Given the description of an element on the screen output the (x, y) to click on. 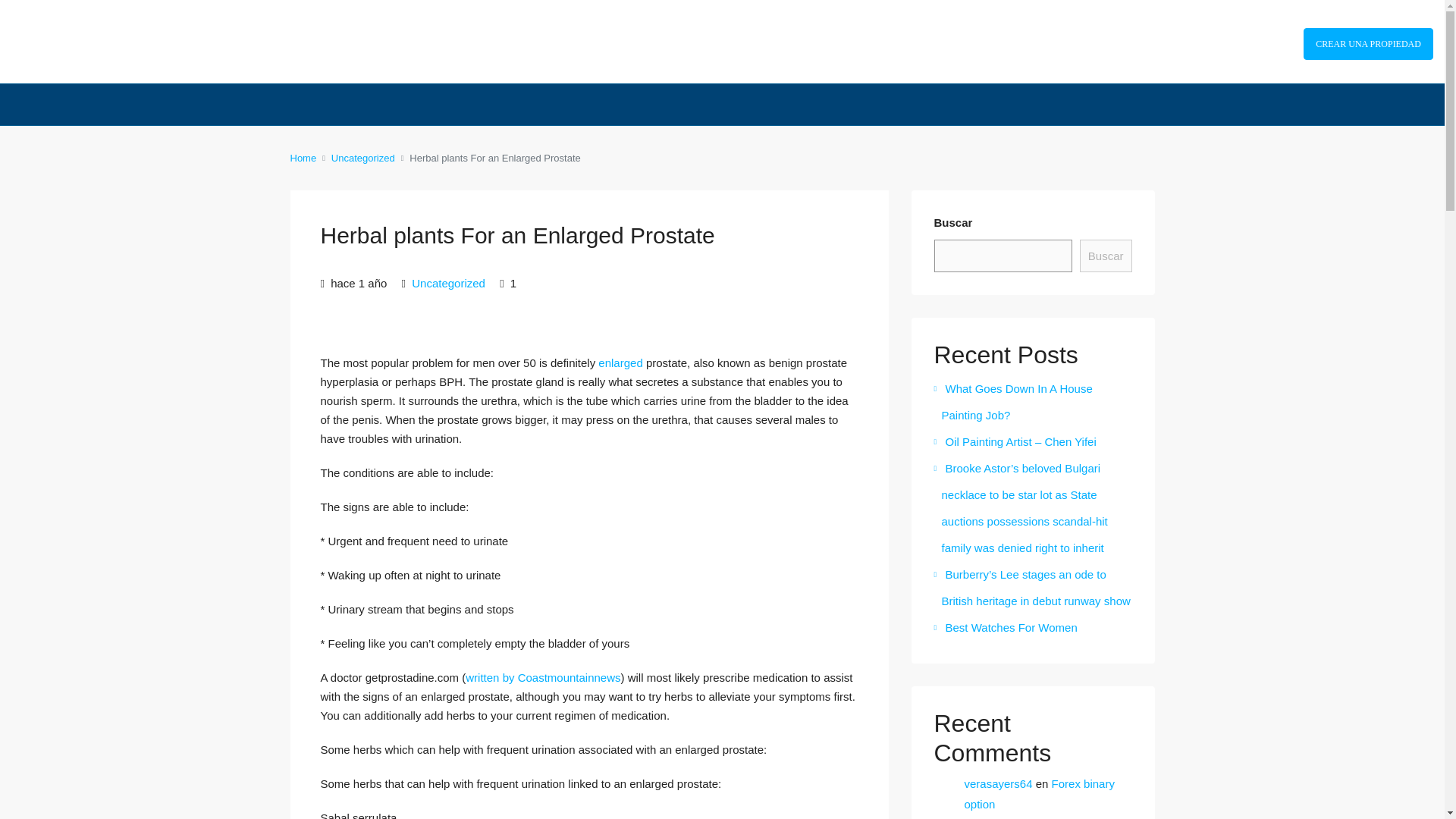
verasayers64 (997, 783)
Home (302, 157)
Buscar (1106, 255)
Forex binary option (1039, 793)
Uncategorized (362, 157)
written by Coastmountainnews (542, 676)
Best Watches For Women (1005, 626)
CREAR UNA PROPIEDAD (1367, 43)
Uncategorized (448, 282)
enlarged (620, 362)
